Given the description of an element on the screen output the (x, y) to click on. 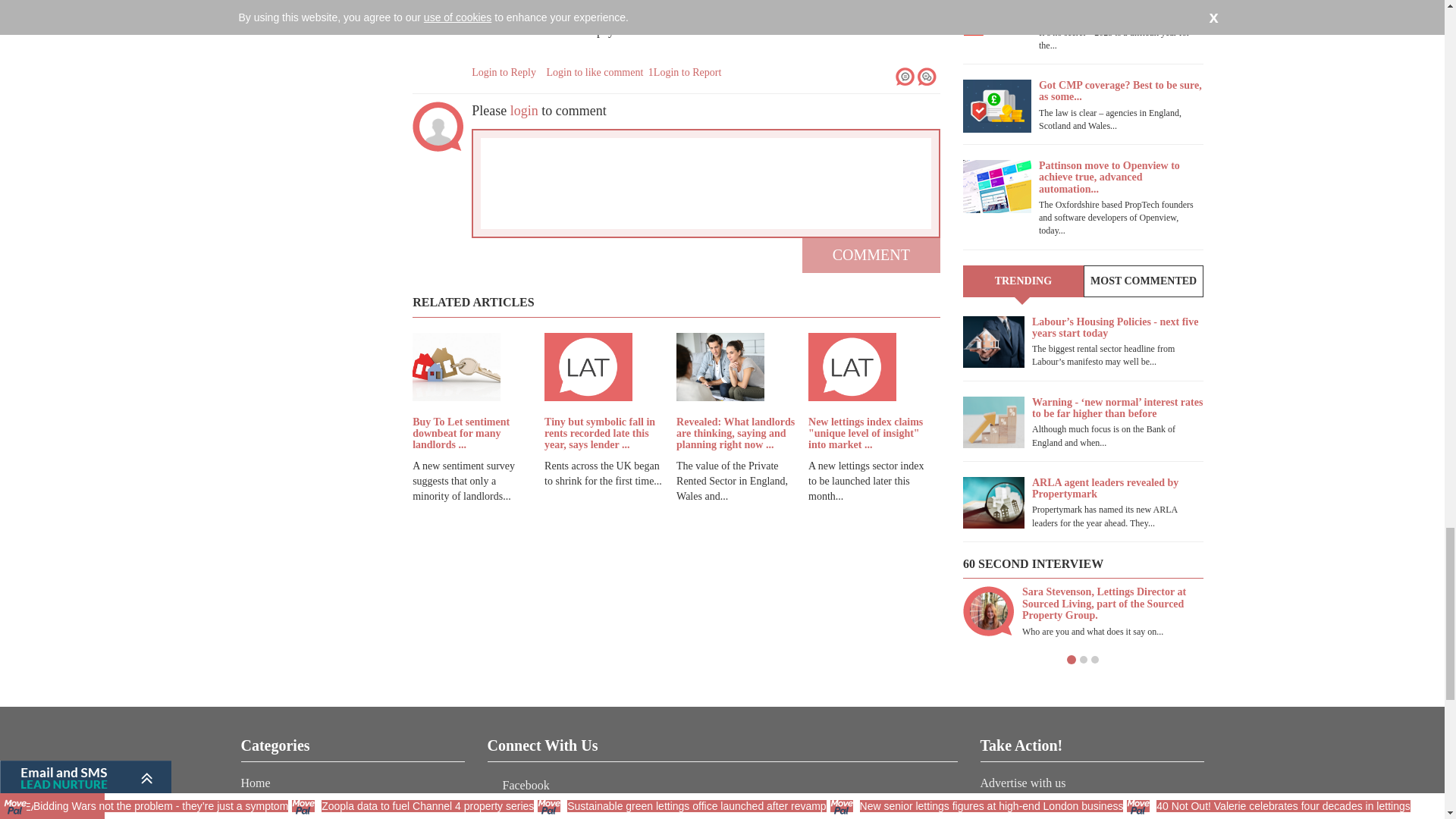
Comment (871, 254)
